Given the description of an element on the screen output the (x, y) to click on. 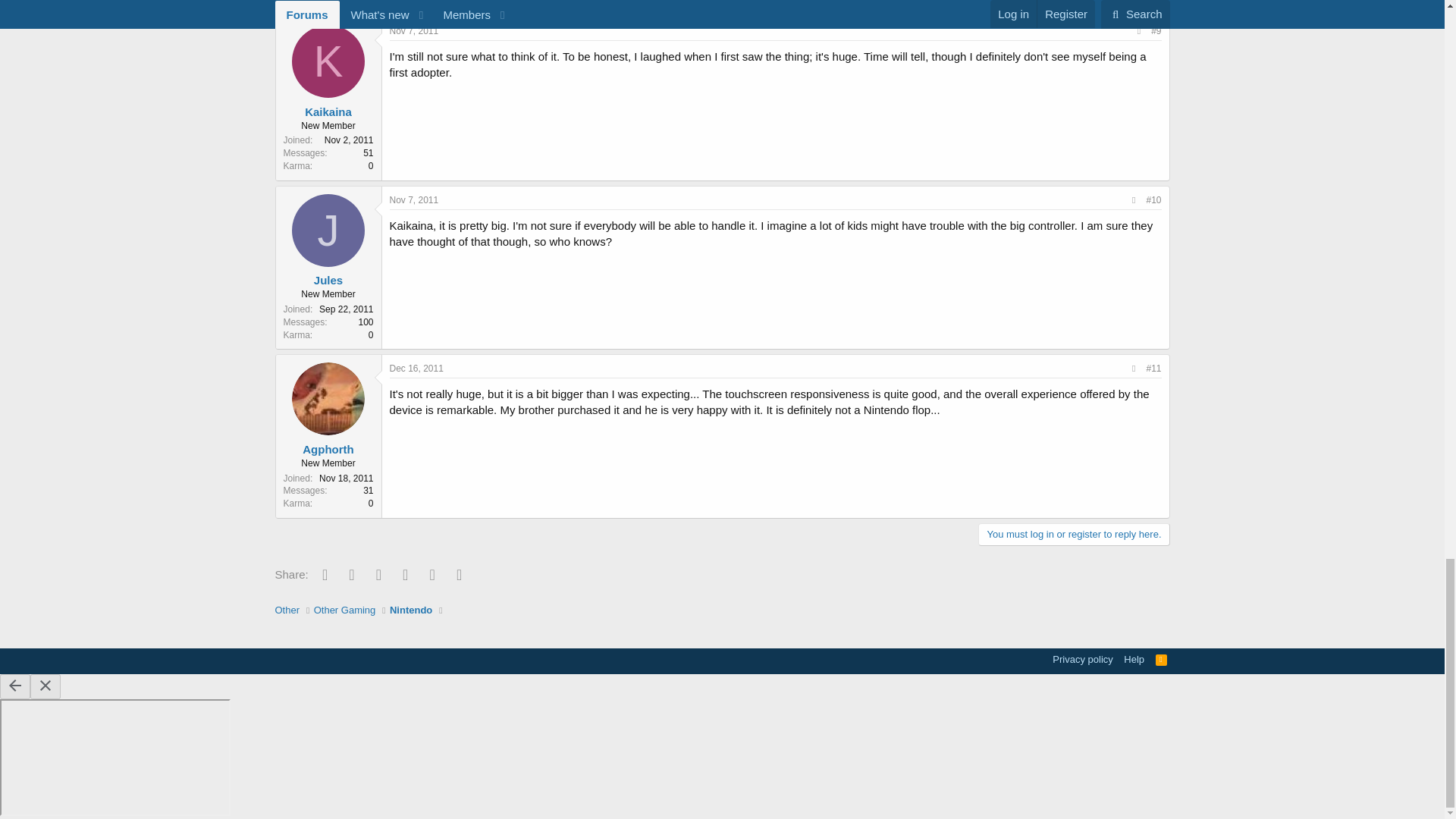
Nov 7, 2011 at 9:49 AM (414, 30)
Nov 7, 2011 at 11:37 AM (414, 199)
Dec 16, 2011 at 3:00 PM (417, 368)
RSS (1161, 658)
